Given the description of an element on the screen output the (x, y) to click on. 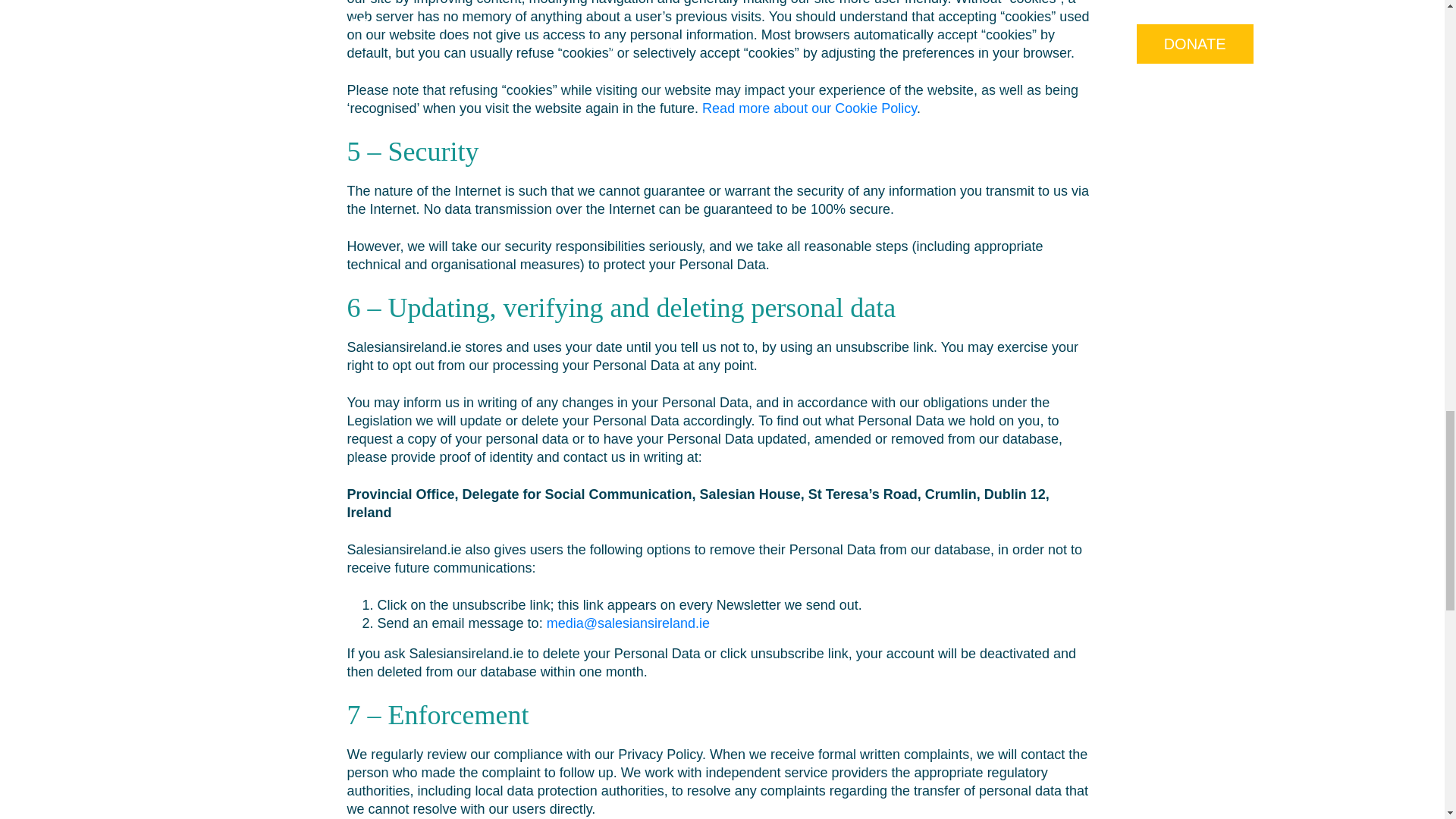
Read more about our Cookie Policy (809, 108)
